Given the description of an element on the screen output the (x, y) to click on. 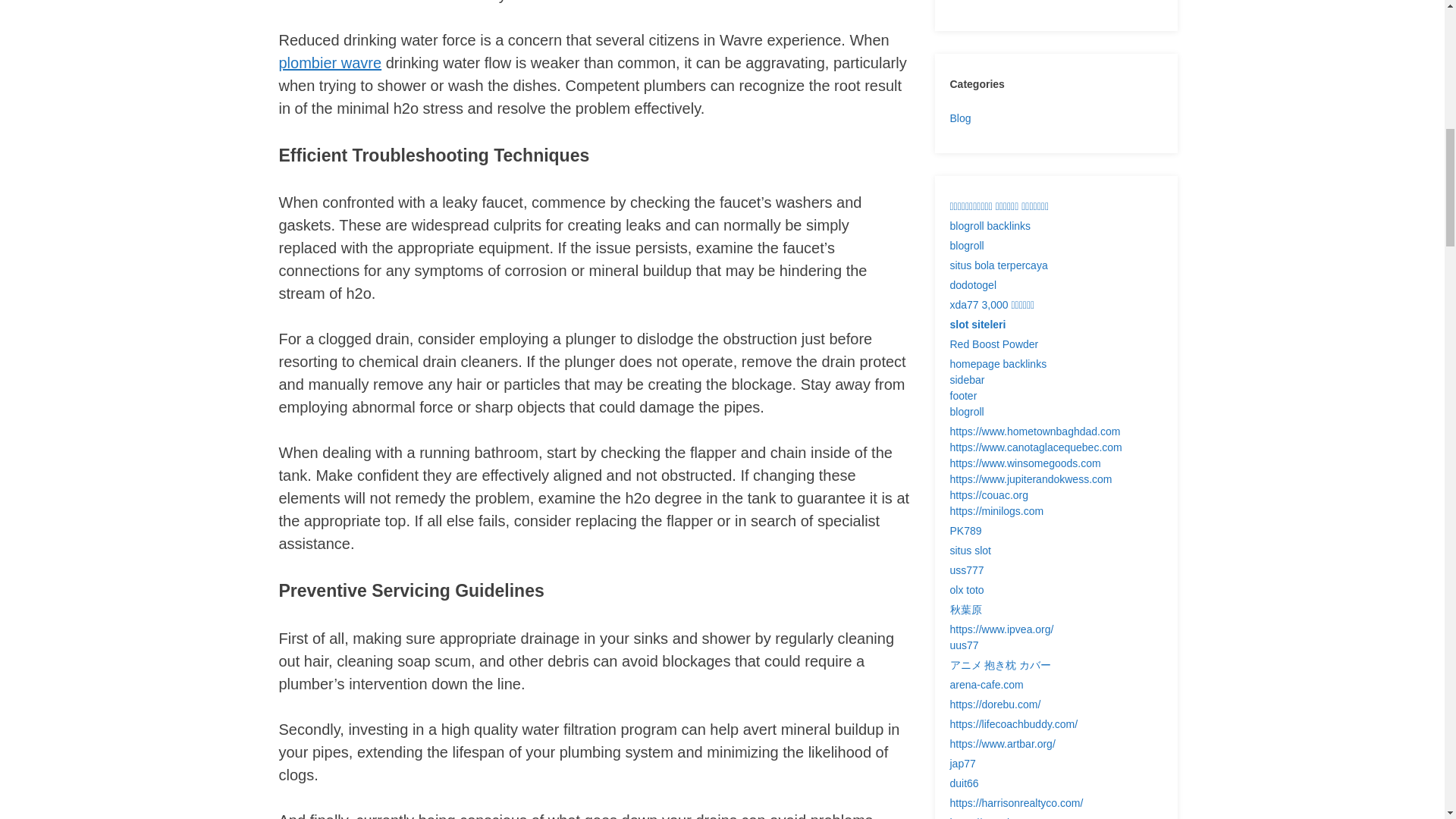
blogroll (966, 245)
sidebar (966, 379)
plombier wavre (330, 62)
March 2024 (977, 1)
dodotogel (972, 285)
homepage backlinks (997, 363)
blogroll backlinks (989, 225)
Blog (960, 118)
situs bola terpercaya (997, 265)
footer (962, 395)
